Given the description of an element on the screen output the (x, y) to click on. 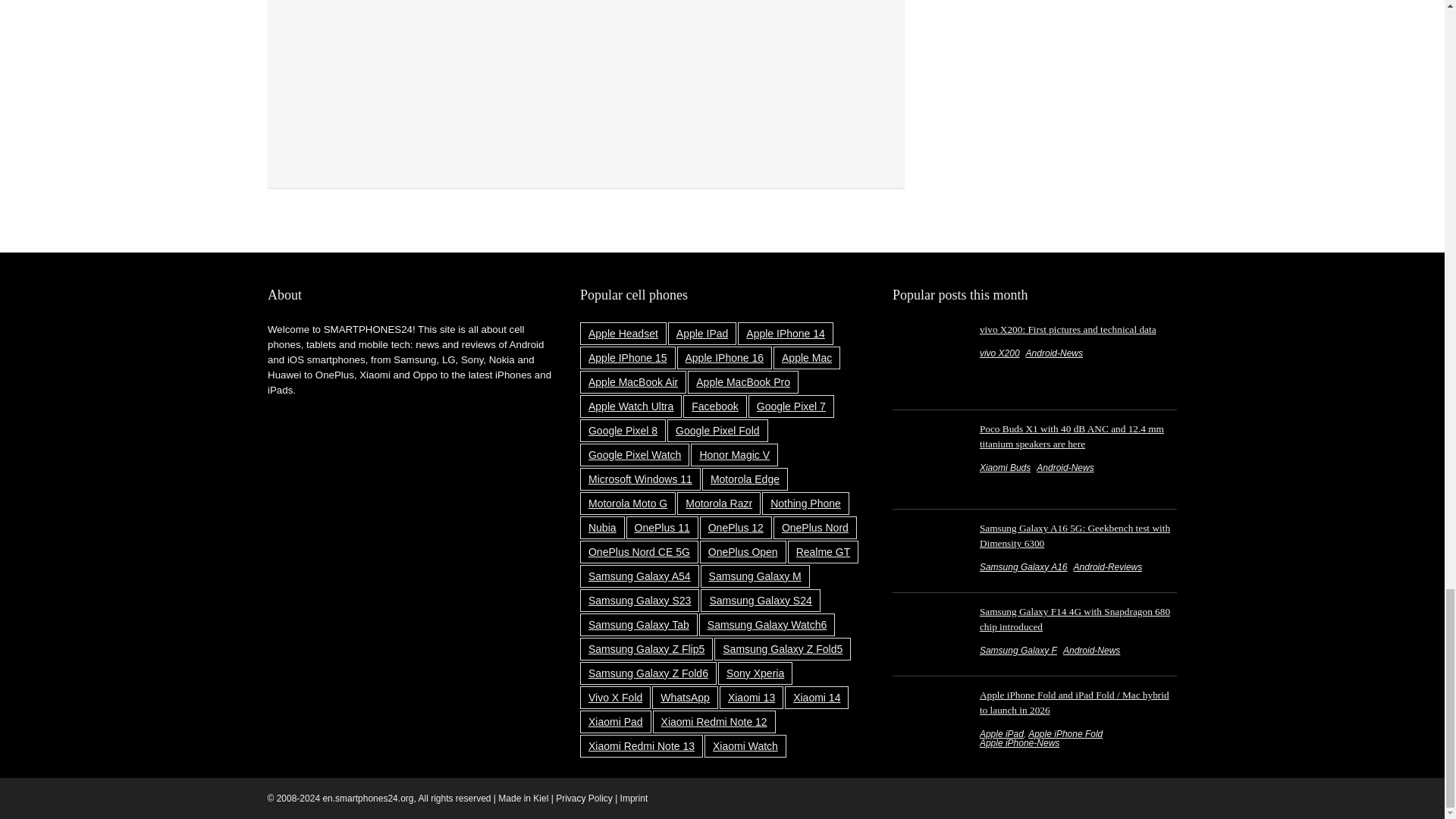
Comment Form (585, 81)
